Given the description of an element on the screen output the (x, y) to click on. 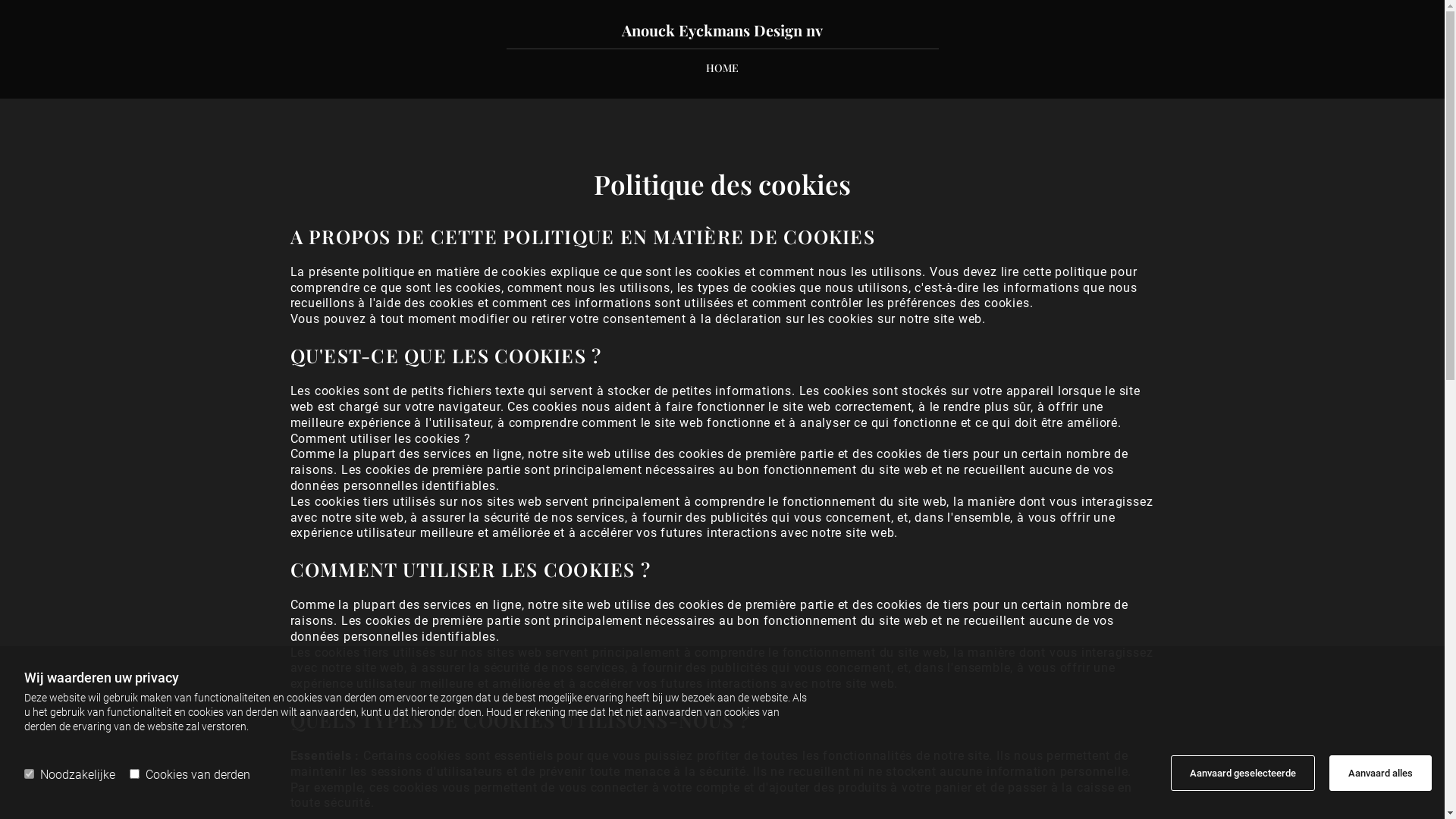
HOME Element type: text (722, 68)
Aanvaard alles Element type: text (1380, 772)
Aanvaard geselecteerde Element type: text (1242, 772)
